Given the description of an element on the screen output the (x, y) to click on. 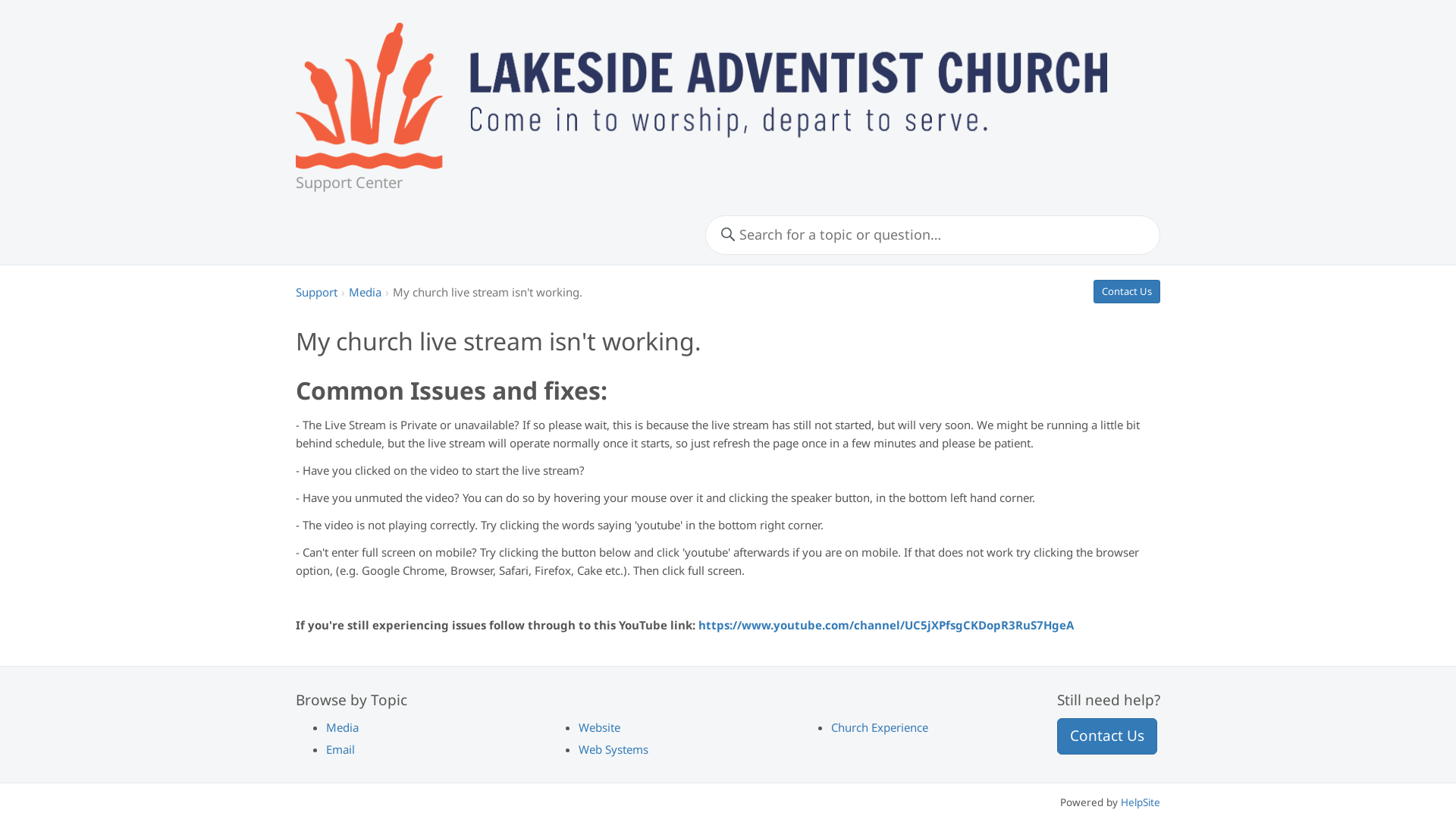
Web Systems Element type: text (613, 748)
Support Element type: text (316, 291)
Media Element type: text (364, 291)
Support Center Element type: text (348, 180)
Email Element type: text (340, 748)
HelpSite Element type: text (1140, 802)
https://www.youtube.com/channel/UC5jXPfsgCKDopR3RuS7HgeA Element type: text (885, 624)
Contact Us Element type: text (1107, 735)
Media Element type: text (342, 726)
Contact Us Element type: text (1126, 291)
Website Element type: text (599, 726)
Church Experience Element type: text (879, 726)
